Given the description of an element on the screen output the (x, y) to click on. 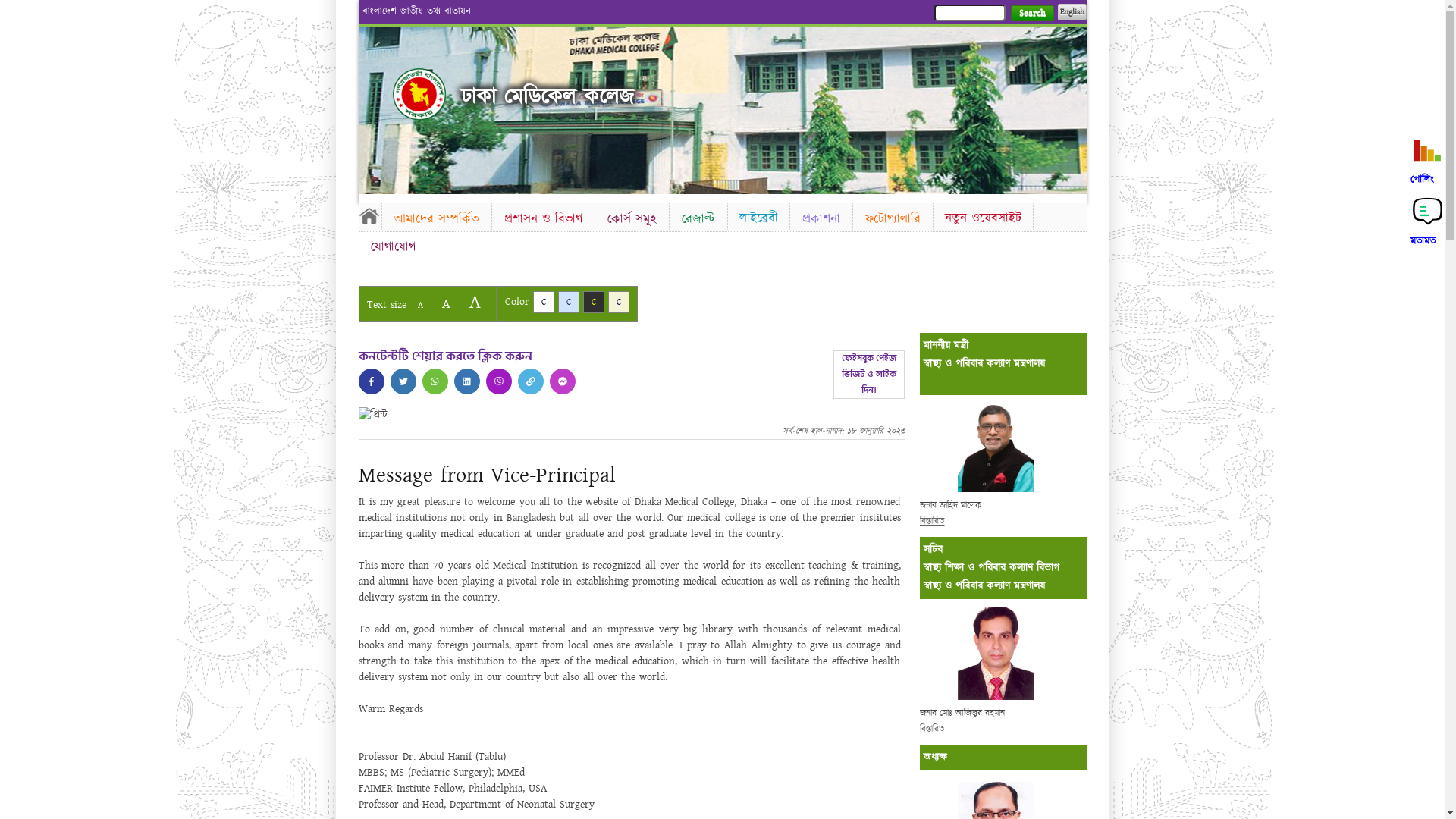
Home Element type: hover (418, 93)
C Element type: text (592, 302)
A Element type: text (419, 304)
Home Element type: hover (368, 215)
C Element type: text (618, 302)
A Element type: text (474, 302)
English Element type: text (1071, 11)
A Element type: text (445, 303)
C Element type: text (568, 302)
C Element type: text (542, 302)
Search Element type: text (1031, 13)
